Given the description of an element on the screen output the (x, y) to click on. 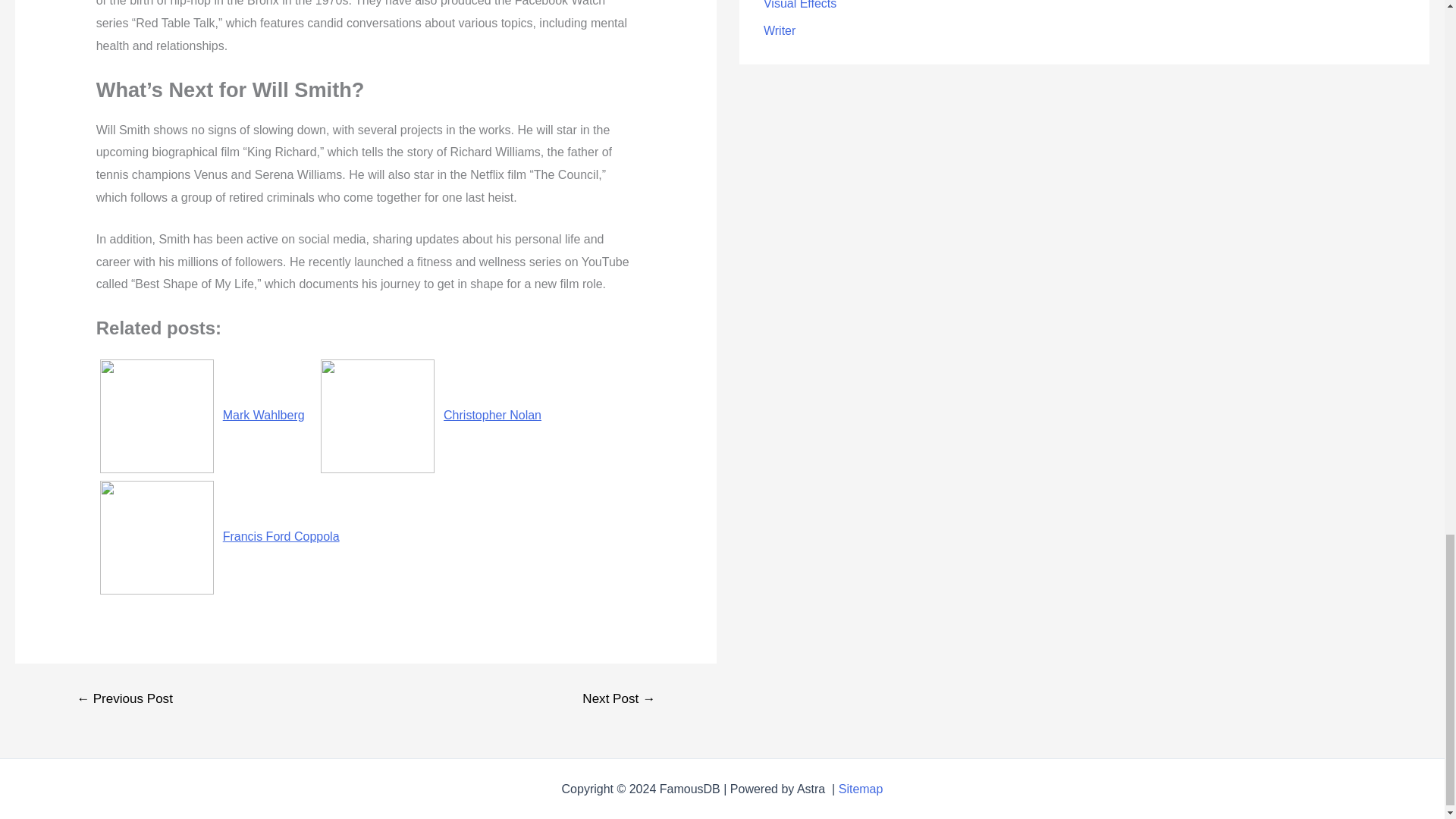
Christopher Nolan (432, 414)
Francis Ford Coppola (220, 535)
Mark Wahlberg (203, 414)
Mark Wahlberg (203, 414)
Christopher Nolan (432, 414)
Francis Ford Coppola (220, 535)
